Given the description of an element on the screen output the (x, y) to click on. 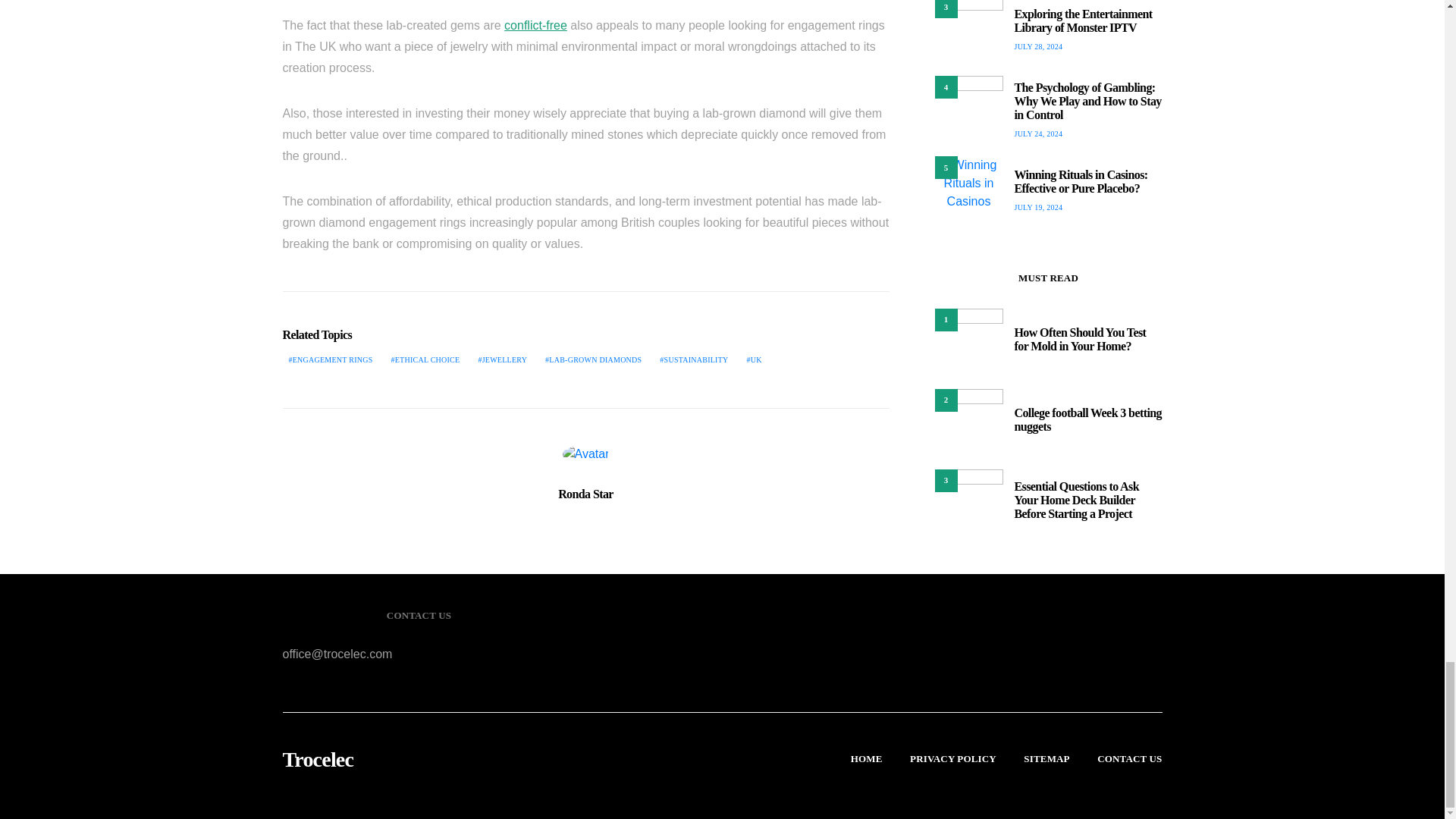
SUSTAINABILITY (693, 359)
ENGAGEMENT RINGS (330, 359)
LAB-GROWN DIAMONDS (592, 359)
JEWELLERY (501, 359)
ETHICAL CHOICE (425, 359)
conflict-free (535, 24)
UK (754, 359)
Ronda Star (584, 493)
